Given the description of an element on the screen output the (x, y) to click on. 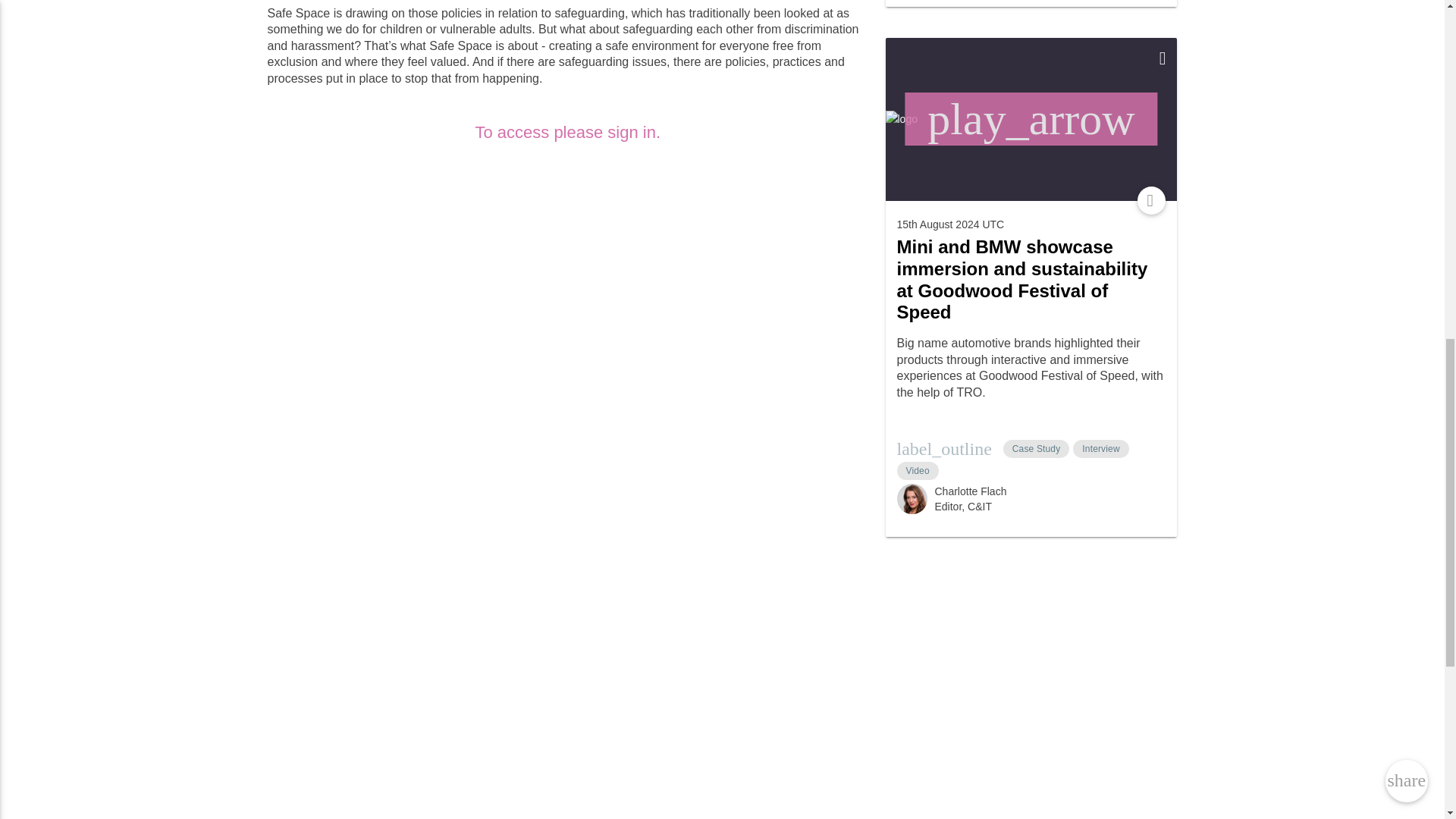
Share (1151, 200)
3rd party ad content (999, 662)
